Given the description of an element on the screen output the (x, y) to click on. 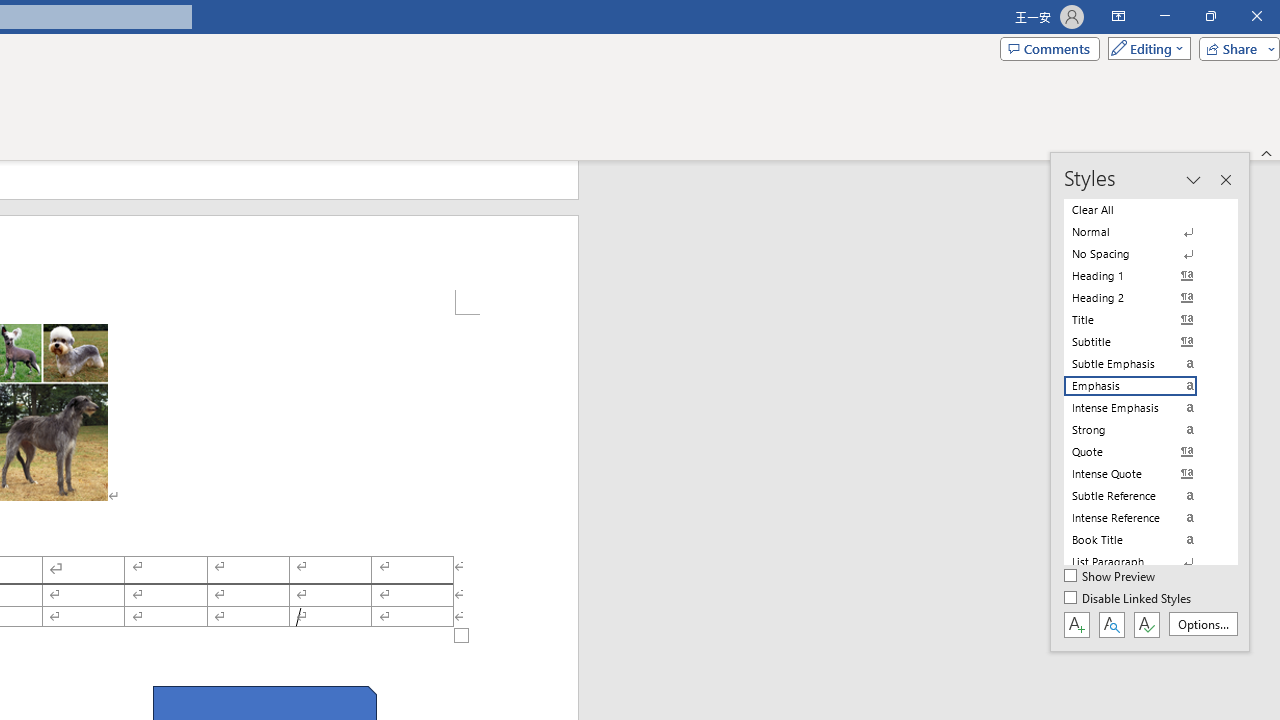
Strong (1142, 429)
Emphasis (1142, 385)
Show Preview (1110, 577)
Intense Reference (1142, 517)
Intense Quote (1142, 473)
Quote (1142, 451)
Options... (1202, 623)
Class: NetUIButton (1146, 624)
Clear All (1142, 209)
List Paragraph (1142, 561)
